Given the description of an element on the screen output the (x, y) to click on. 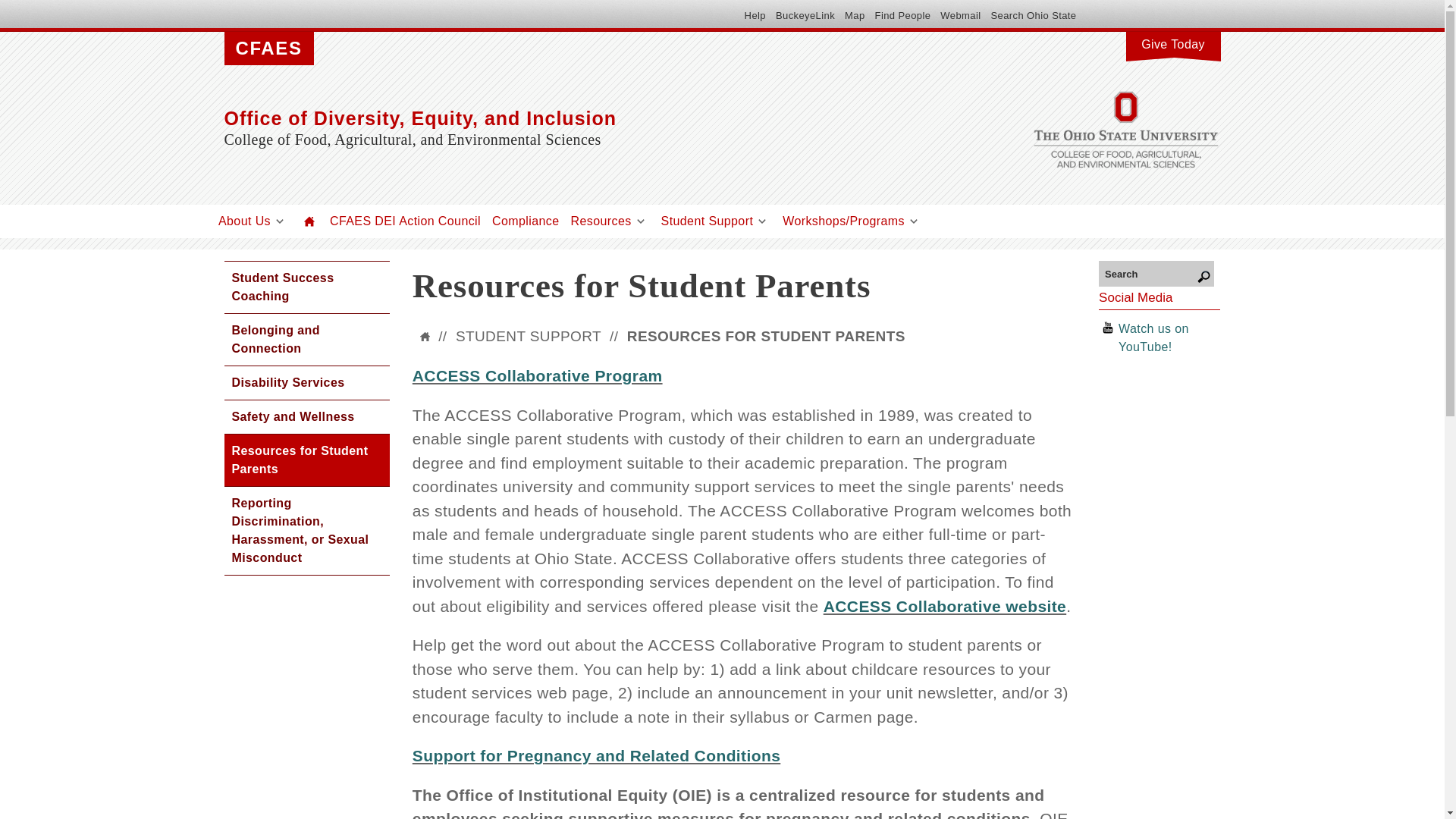
Find People (903, 15)
Webmail (959, 15)
BuckeyeLink (805, 15)
Compliance (525, 221)
Search Ohio State (1032, 15)
CFAES (269, 48)
Search (1155, 273)
About Us (244, 221)
Home (572, 117)
Home (308, 221)
